Given the description of an element on the screen output the (x, y) to click on. 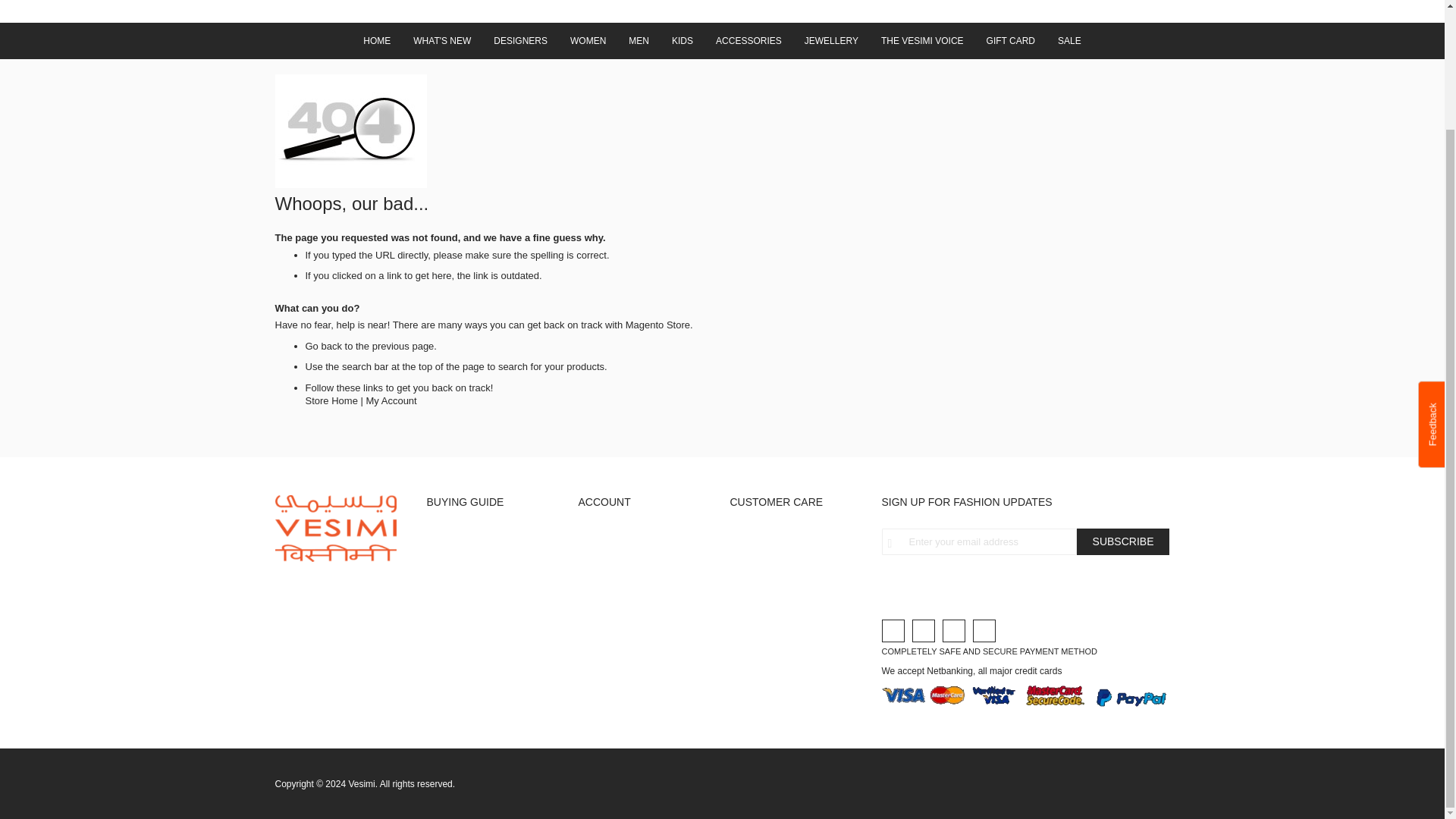
Pinterest (983, 630)
Subscribe (1123, 541)
Follow Infortis on Twitter (892, 630)
Join us on Facebook (922, 630)
Instagram (952, 630)
HOME (376, 40)
WHAT'S NEW (441, 40)
DESIGNERS (520, 40)
